Given the description of an element on the screen output the (x, y) to click on. 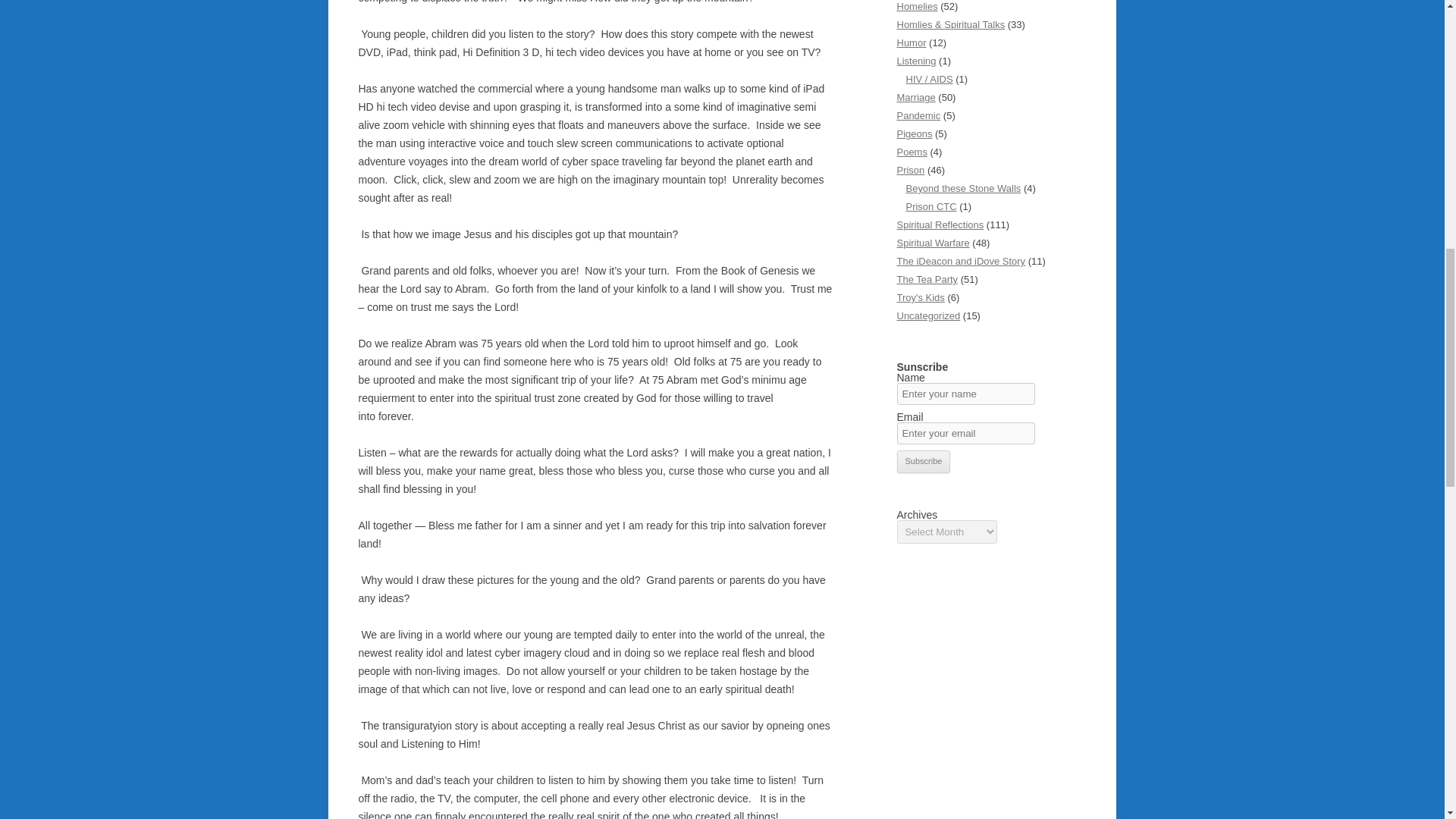
Subscribe (923, 461)
Homelies (916, 6)
